Given the description of an element on the screen output the (x, y) to click on. 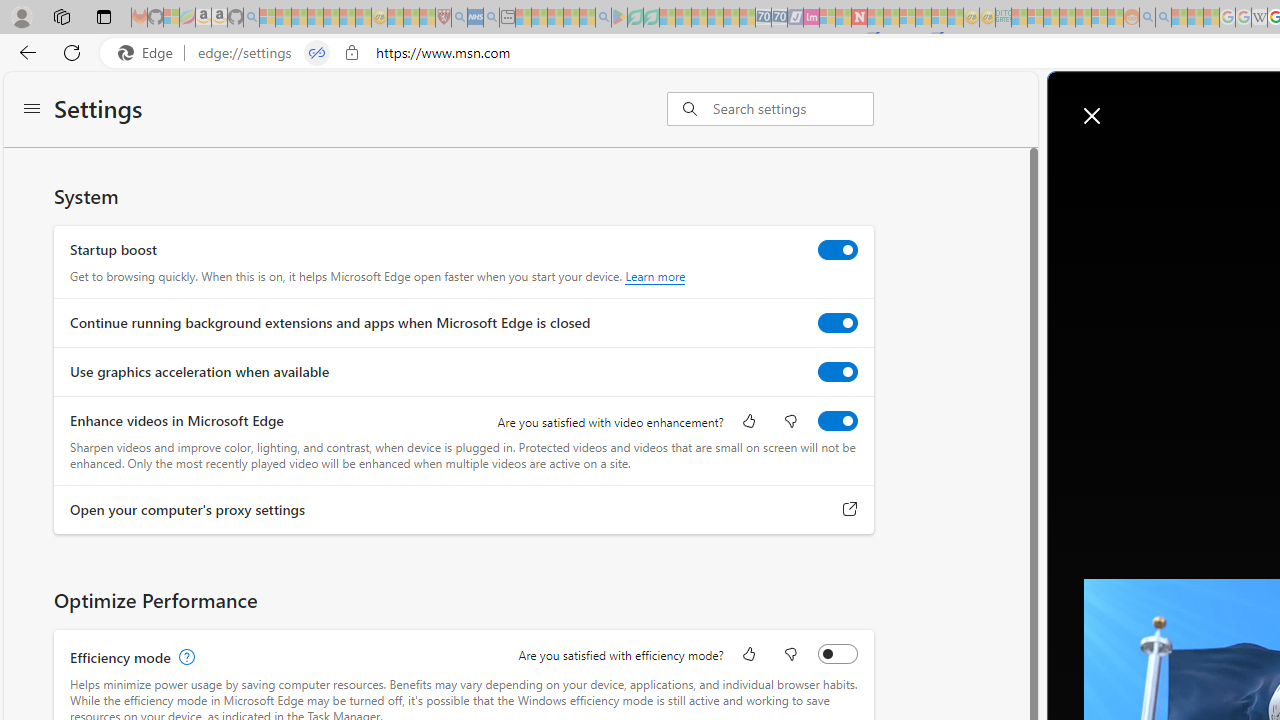
Like (748, 655)
Cheap Hotels - Save70.com - Sleeping (779, 17)
Pets - MSN - Sleeping (571, 17)
utah sues federal government - Search - Sleeping (491, 17)
